Given the description of an element on the screen output the (x, y) to click on. 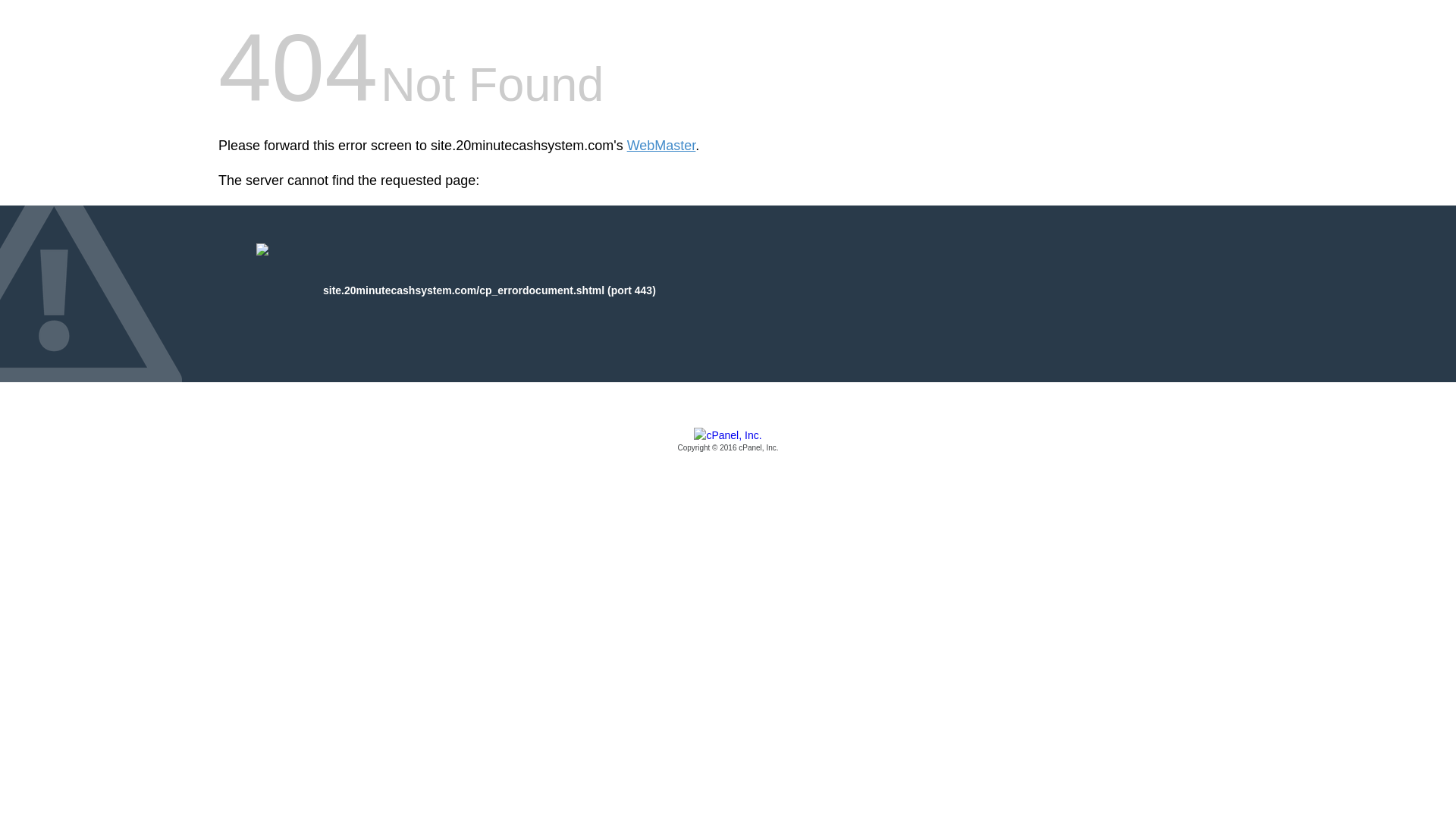
WebMaster Element type: text (661, 145)
